Given the description of an element on the screen output the (x, y) to click on. 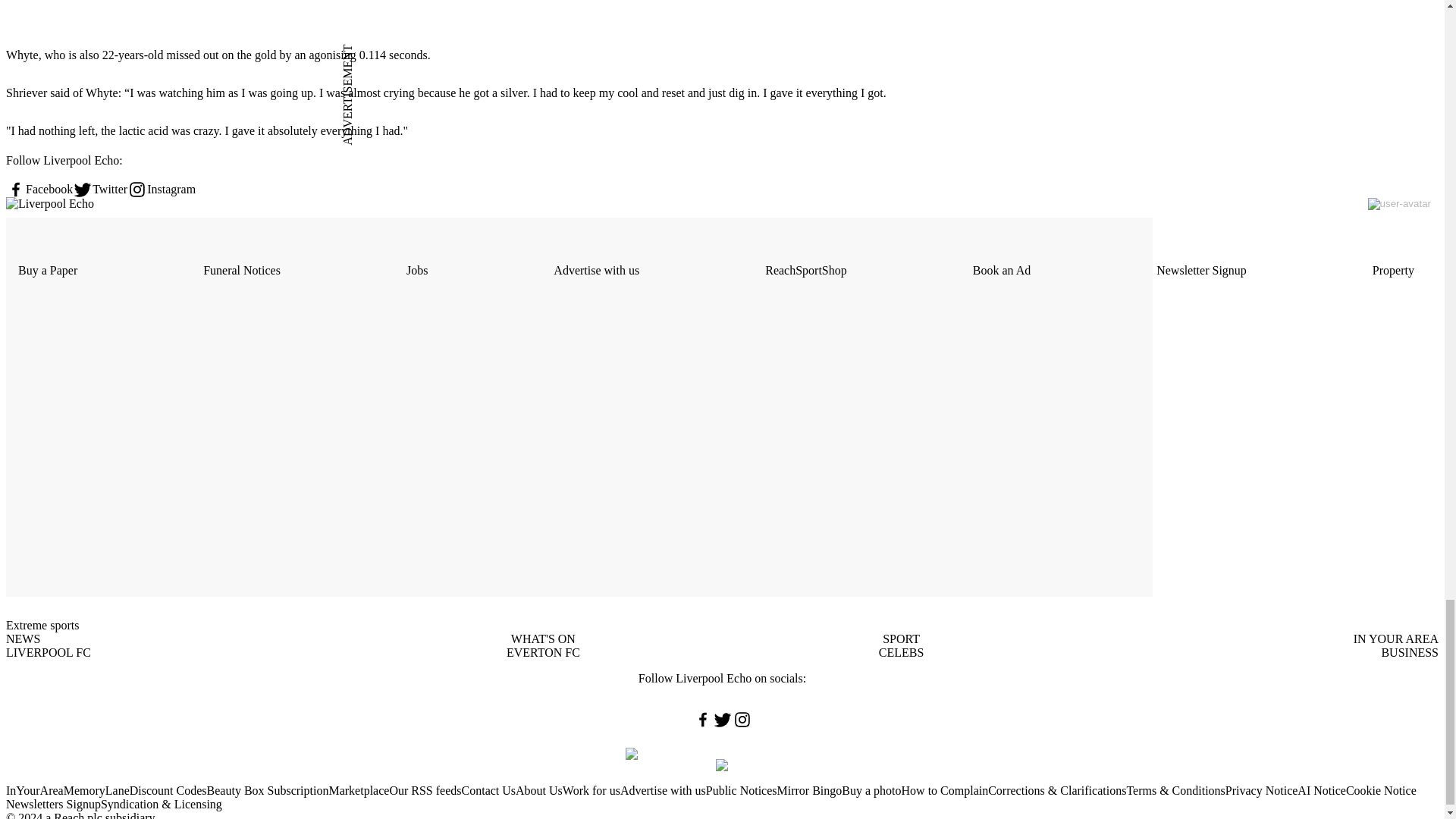
Twitter (100, 189)
Facebook (38, 189)
Instagram (161, 189)
